Given the description of an element on the screen output the (x, y) to click on. 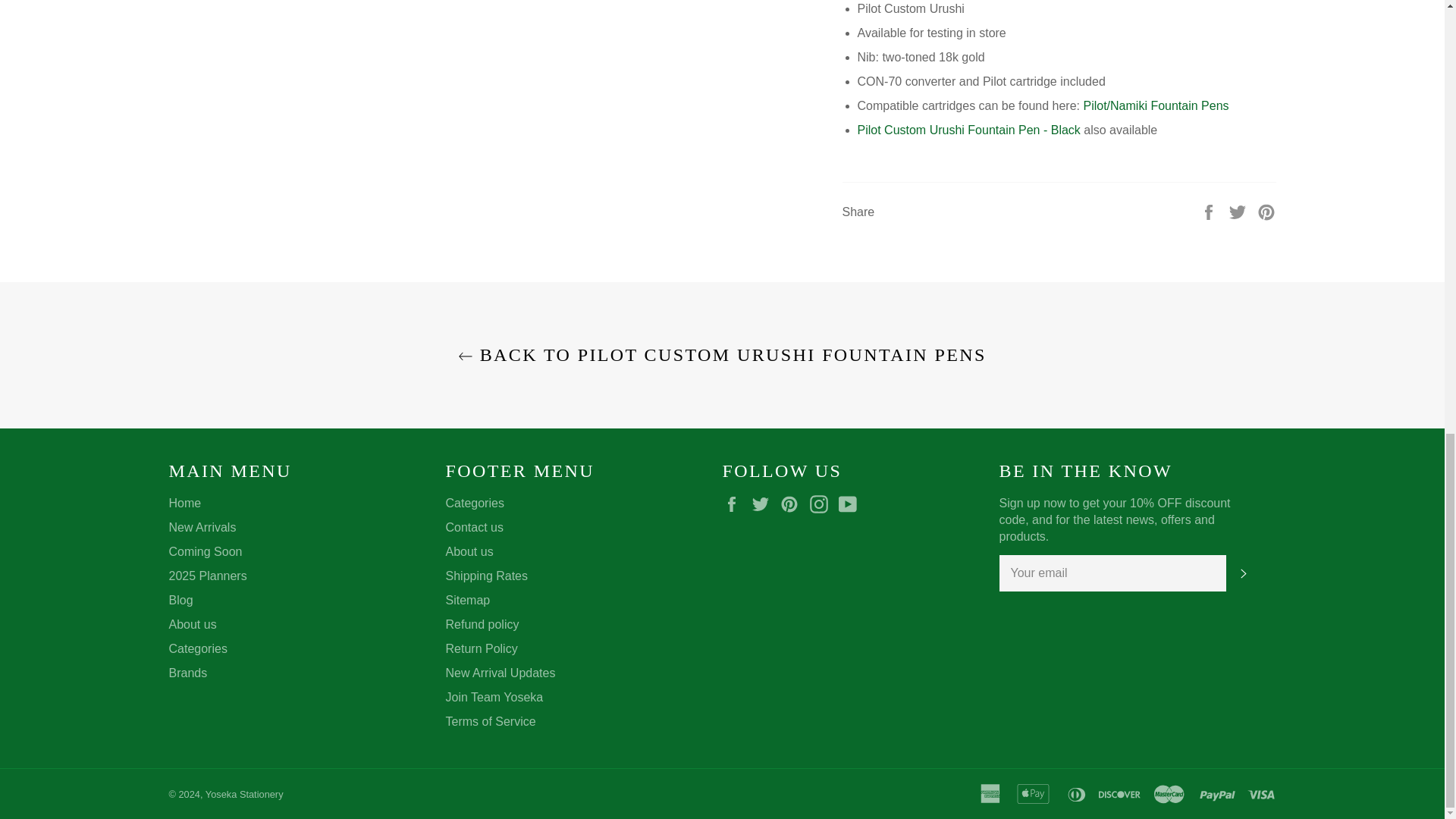
Yoseka Stationery on Twitter (764, 504)
Yoseka Stationery on Pinterest (793, 504)
Yoseka Stationery on Instagram (822, 504)
Yoseka Stationery on Facebook (735, 504)
Pin on Pinterest (1266, 210)
Share on Facebook (1210, 210)
Yoseka Stationery on YouTube (851, 504)
Tweet on Twitter (1238, 210)
